Given the description of an element on the screen output the (x, y) to click on. 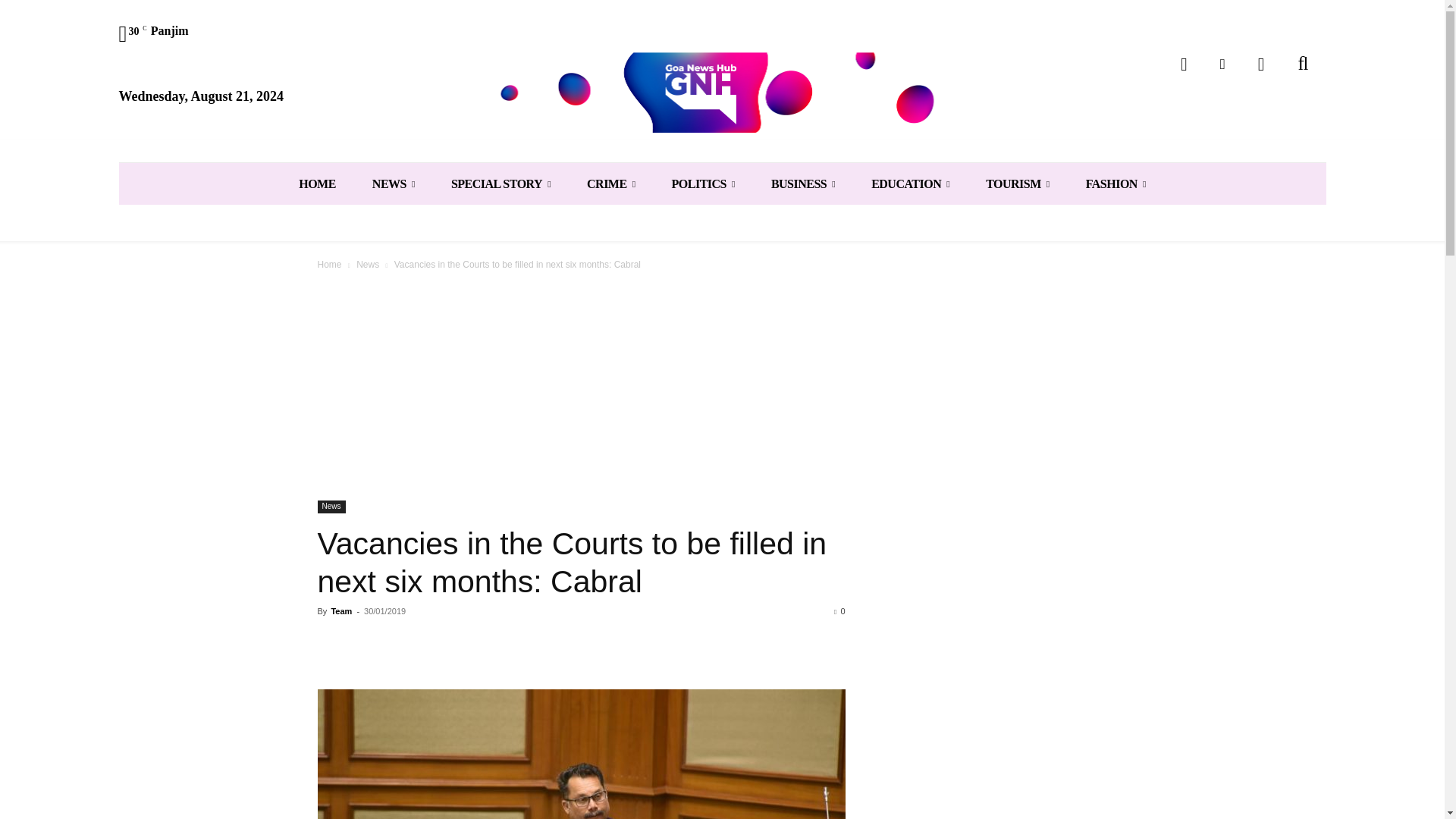
NEWS (392, 183)
Facebook (1184, 63)
Goa News Hub (722, 91)
Youtube (1261, 63)
HOME (317, 183)
Twitter (1223, 63)
